Given the description of an element on the screen output the (x, y) to click on. 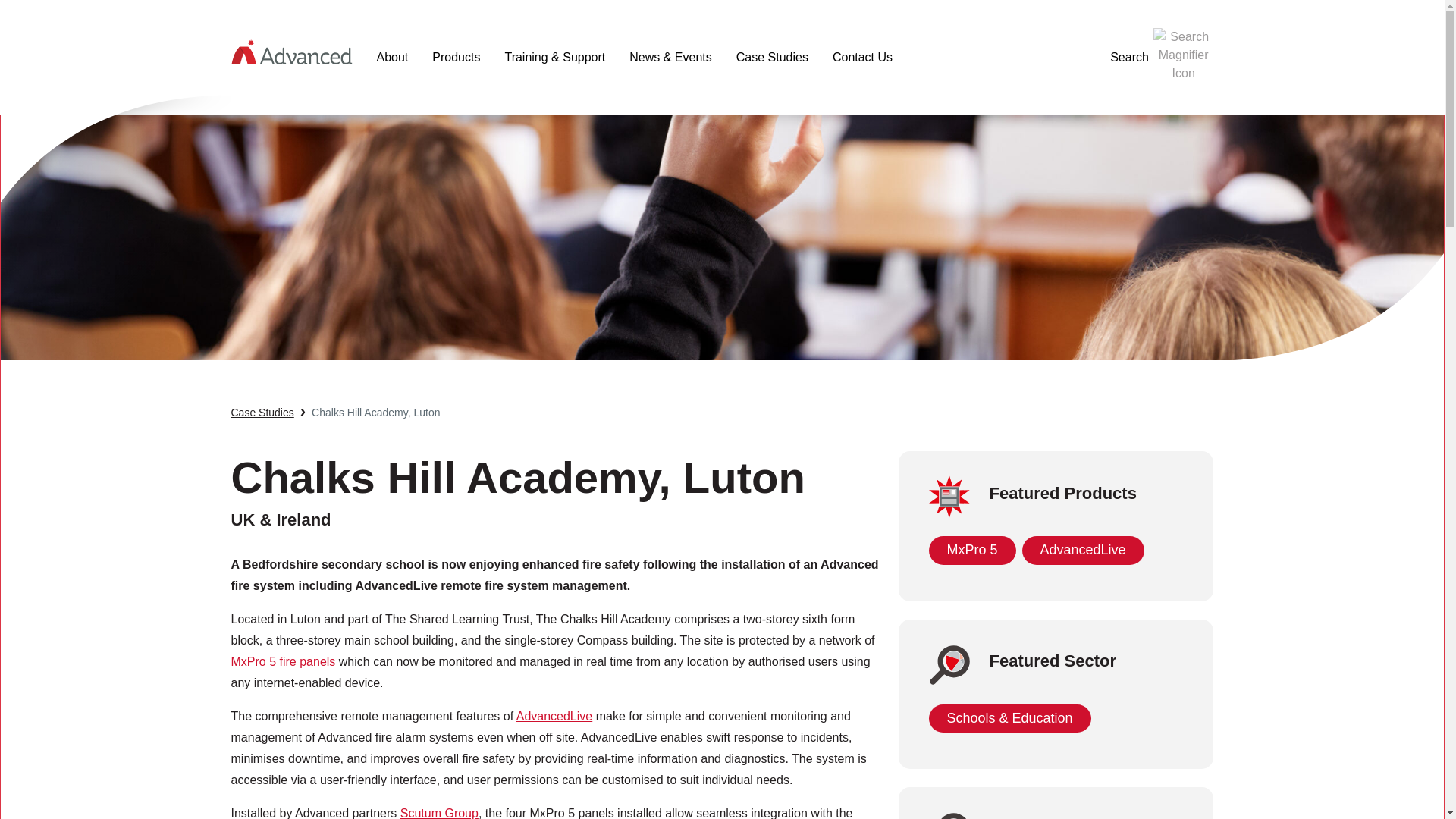
Scutum Group (439, 812)
About (392, 57)
MxPro 5 fire panels (282, 661)
Contact Us (862, 57)
AdvancedLive (554, 716)
Case Studies (262, 412)
Case Studies (772, 57)
Products (456, 57)
AdvancedLive (1083, 550)
MxPro 5 (971, 550)
